Given the description of an element on the screen output the (x, y) to click on. 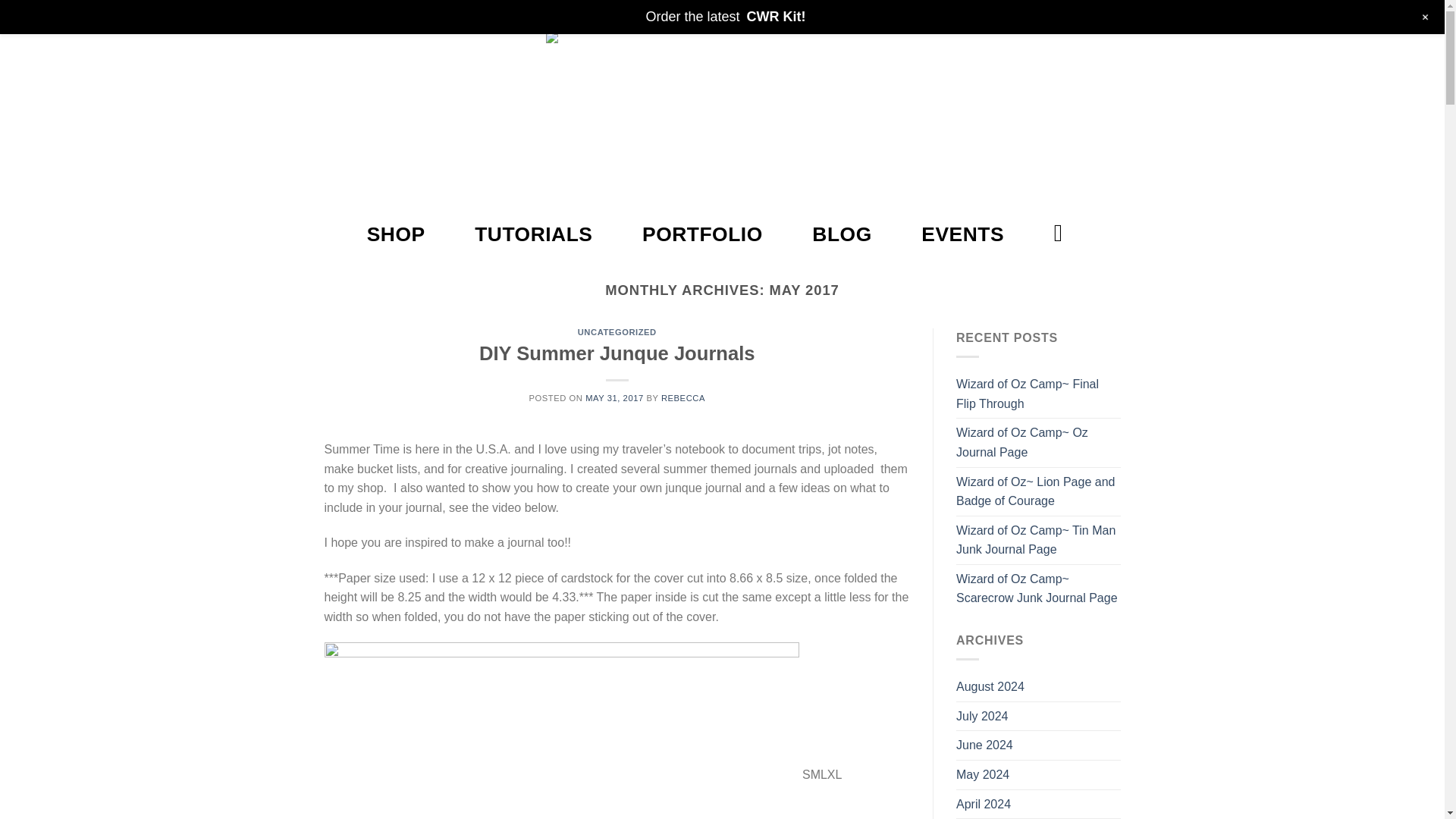
REBECCA (682, 397)
Follow on Facebook (335, 14)
SHOP (396, 234)
PORTFOLIO (702, 234)
Connect (1049, 15)
DIY Summer Junque Journals (617, 353)
UNCATEGORIZED (617, 331)
MAY 31, 2017 (614, 397)
Follow on Pinterest (378, 14)
EVENTS (963, 234)
